Given the description of an element on the screen output the (x, y) to click on. 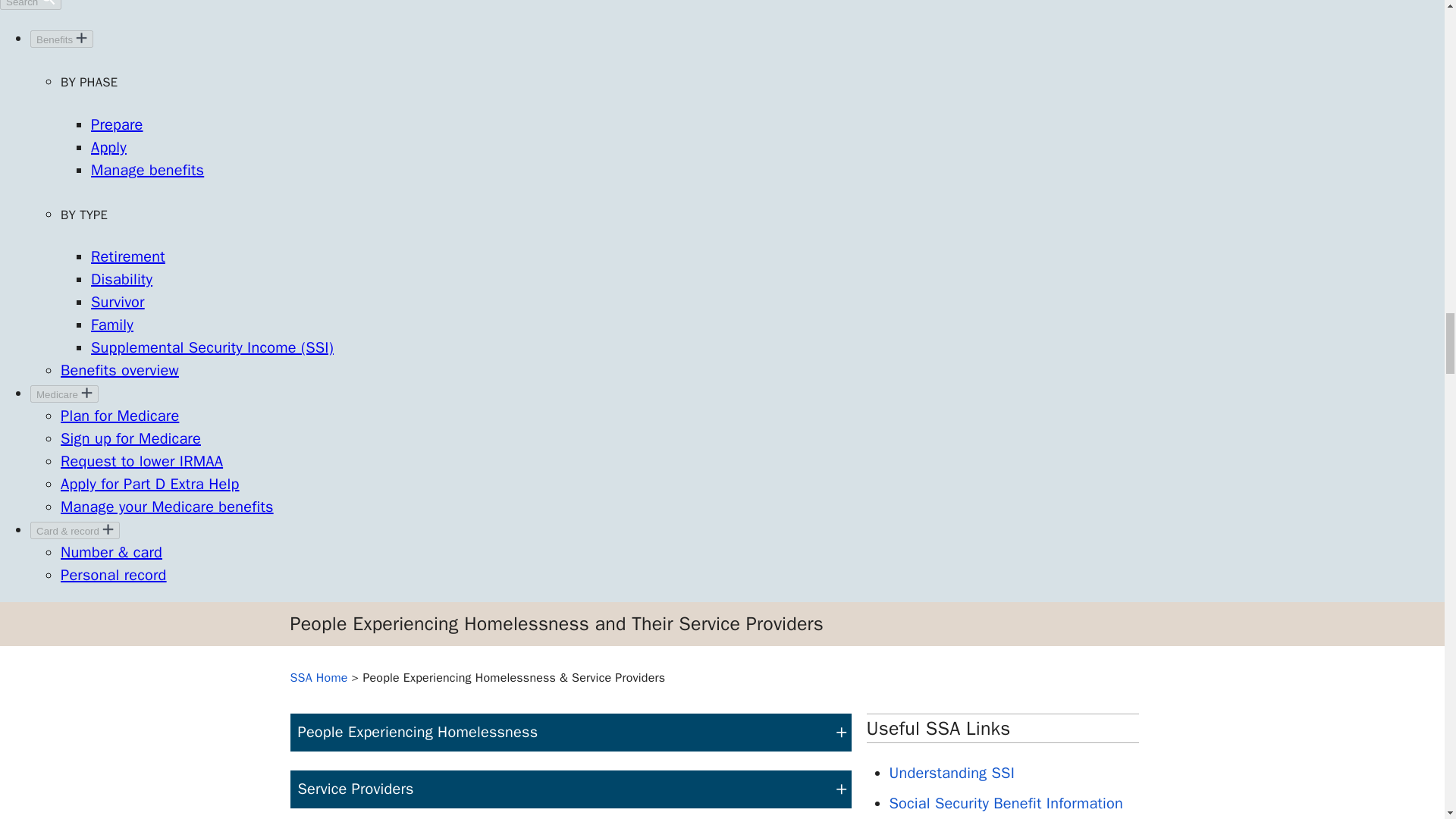
Service Providers (569, 789)
Understanding SSI (951, 772)
Social Security Benefit Information Publications (1005, 806)
SSA Home (318, 678)
People Experiencing Homelessness (569, 732)
